Given the description of an element on the screen output the (x, y) to click on. 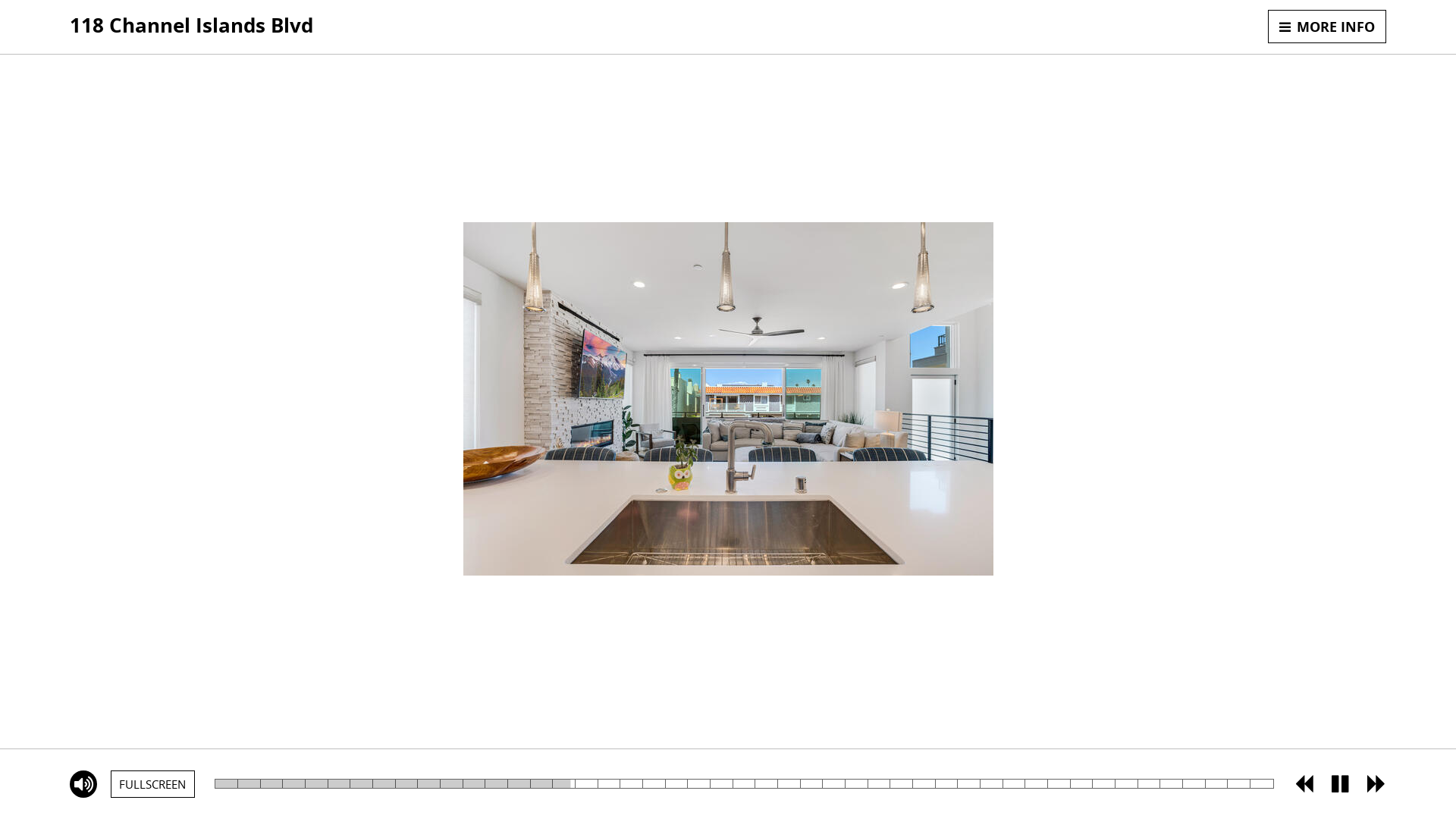
MORE INFO Element type: text (1326, 26)
